Given the description of an element on the screen output the (x, y) to click on. 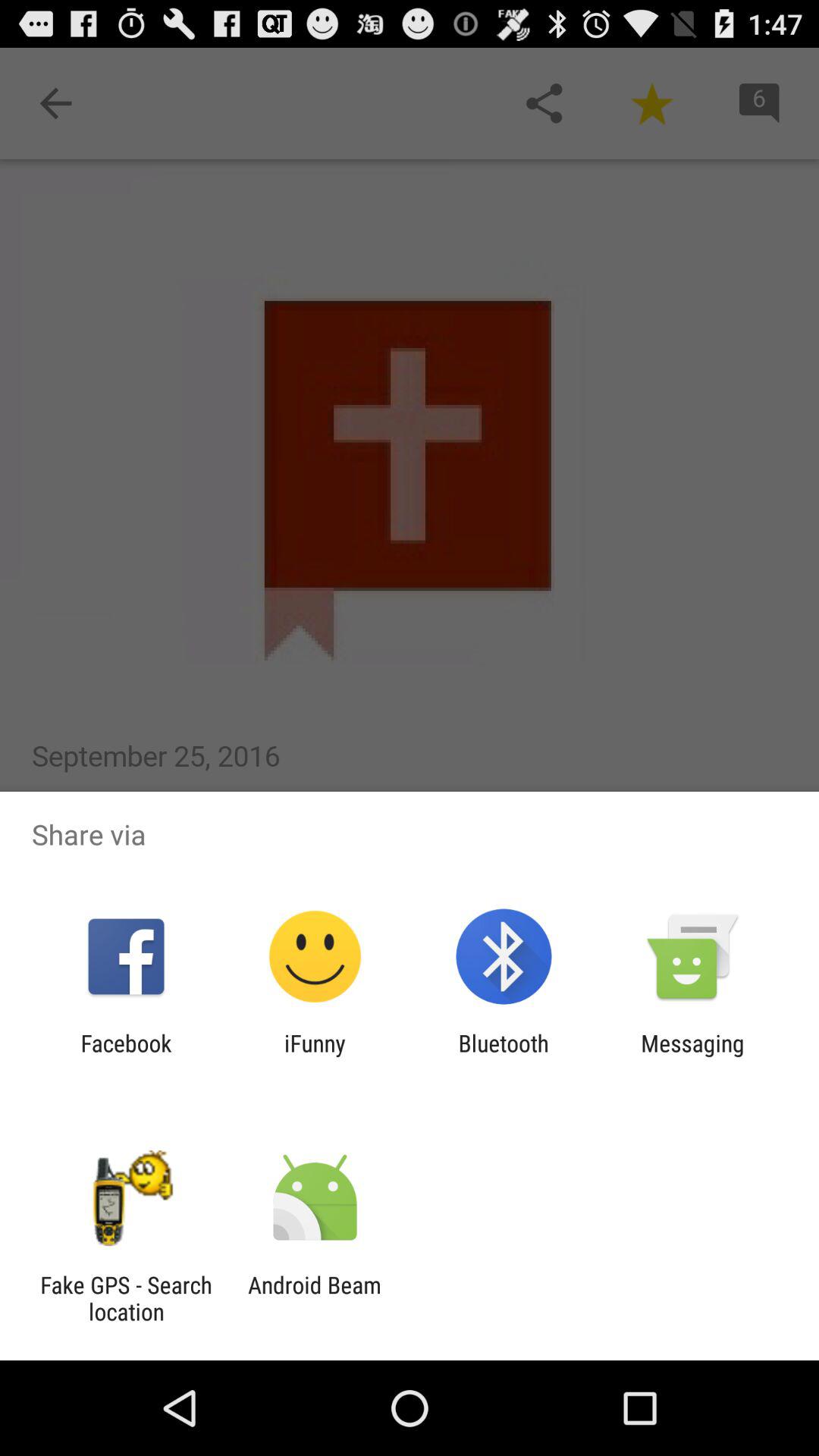
swipe until messaging app (692, 1056)
